Given the description of an element on the screen output the (x, y) to click on. 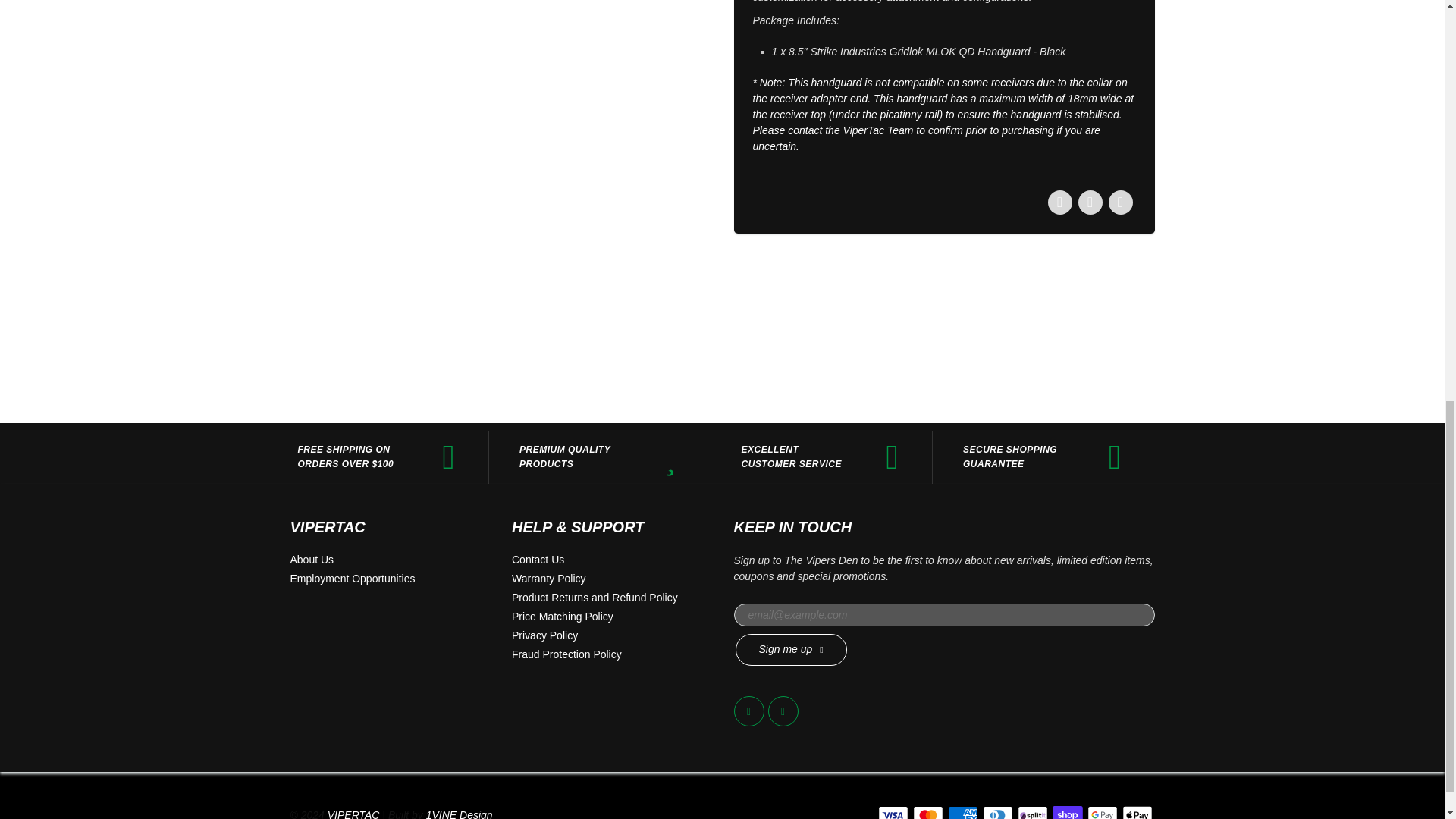
Mastercard (927, 812)
Visa (892, 812)
Instagram (782, 711)
Shop Pay (1067, 812)
Apple Pay (1137, 812)
Facebook (748, 711)
American Express (962, 812)
Splitit (1032, 812)
1VINE Design Website (459, 814)
Google Pay (1102, 812)
